Given the description of an element on the screen output the (x, y) to click on. 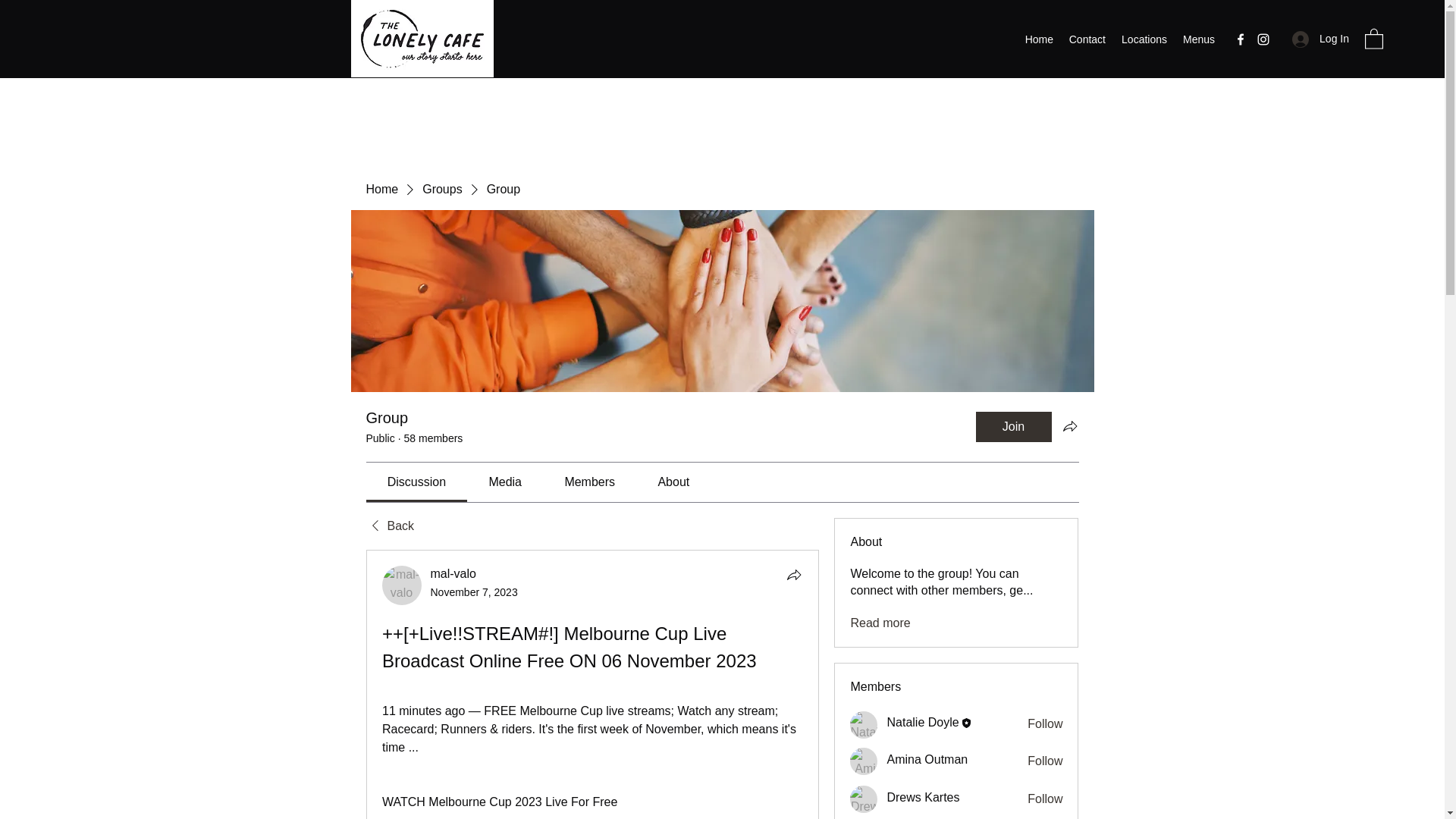
Follow (1044, 723)
Drews Kartes (863, 799)
Log In (1320, 39)
Home (1038, 38)
Home (381, 189)
Natalie Doyle (922, 721)
Menus (1198, 38)
November 7, 2023 (474, 592)
Amina Outman (863, 760)
Read more (880, 623)
Follow (1044, 799)
Back (389, 525)
Contact (1087, 38)
Locations (1143, 38)
Join (1013, 426)
